Given the description of an element on the screen output the (x, y) to click on. 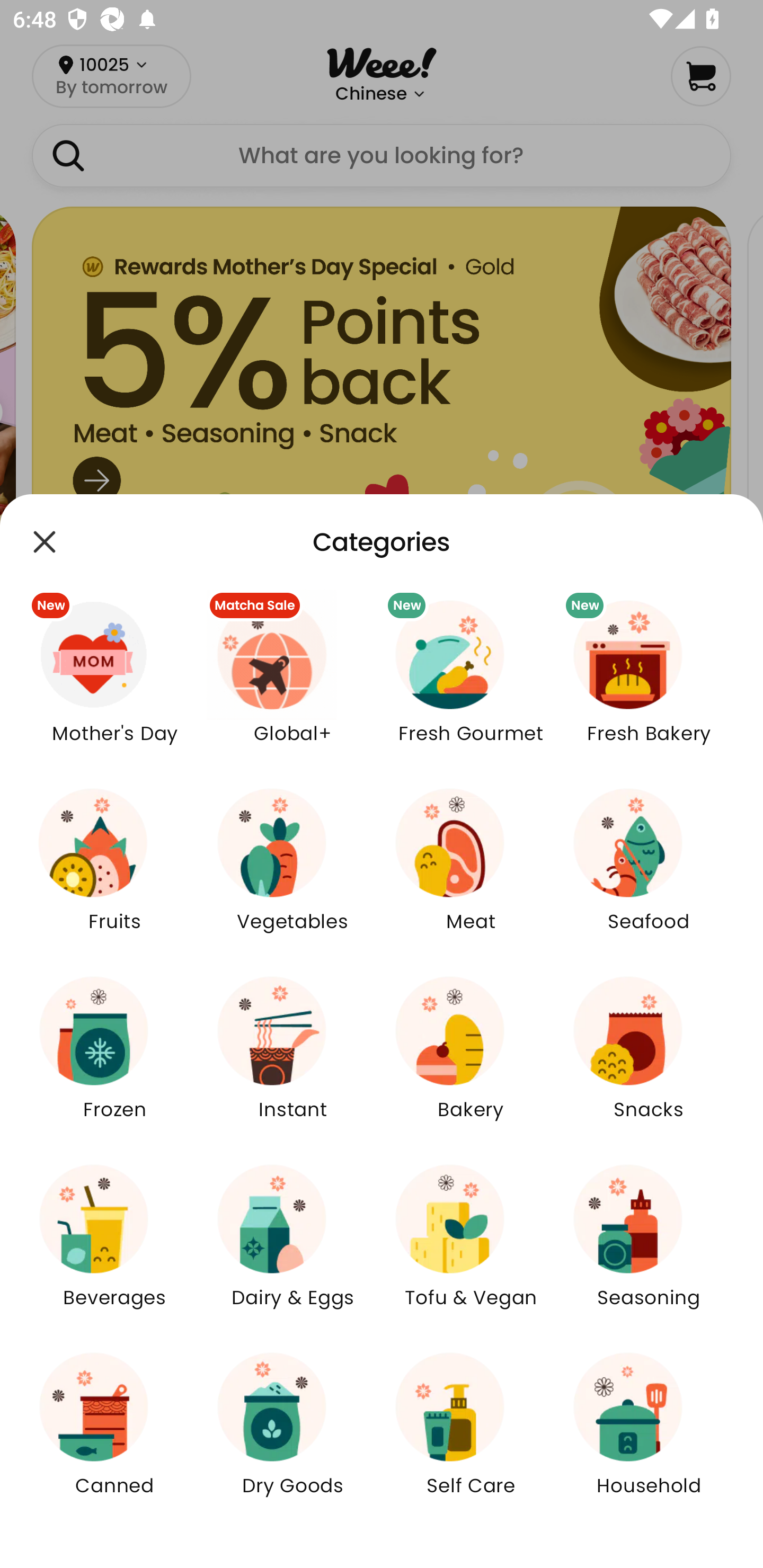
New Mother's Day (114, 683)
Matcha Sale Global+ (292, 683)
New Fresh Gourmet (470, 683)
New Fresh Bakery (648, 683)
Fruits (114, 871)
Vegetables (292, 871)
Meat (470, 871)
Seafood (648, 871)
Frozen (114, 1059)
Instant (292, 1059)
Bakery (470, 1059)
Snacks (648, 1059)
Beverages (114, 1248)
Dairy & Eggs (292, 1248)
Tofu & Vegan (470, 1248)
Seasoning (648, 1248)
Canned (114, 1436)
Dry Goods (292, 1436)
Self Care (470, 1436)
Household (648, 1436)
